Given the description of an element on the screen output the (x, y) to click on. 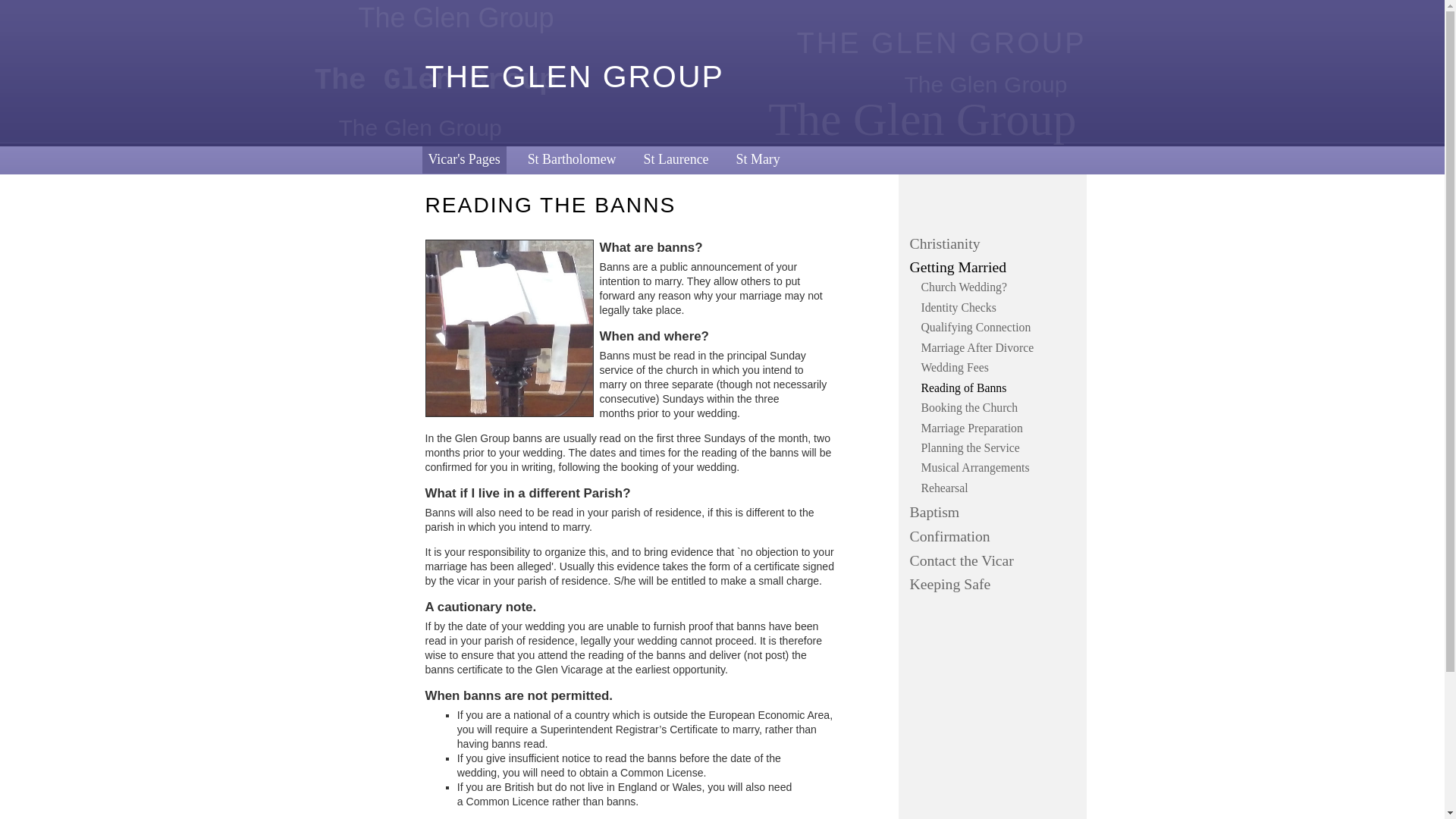
Booking the Church (1000, 407)
Qualifying Connection (1000, 327)
Keeping Safe (995, 584)
Planning the Service (1000, 447)
Marriage After Divorce (1000, 347)
Christianity (995, 243)
Lectern (508, 327)
Contact the Vicar (995, 560)
Wedding Fees (1000, 367)
Identity Checks (1000, 307)
Church Wedding? (1000, 287)
Vicar's Pages (463, 159)
Baptism (995, 512)
Getting Married (995, 267)
Marriage Preparation (1000, 427)
